Given the description of an element on the screen output the (x, y) to click on. 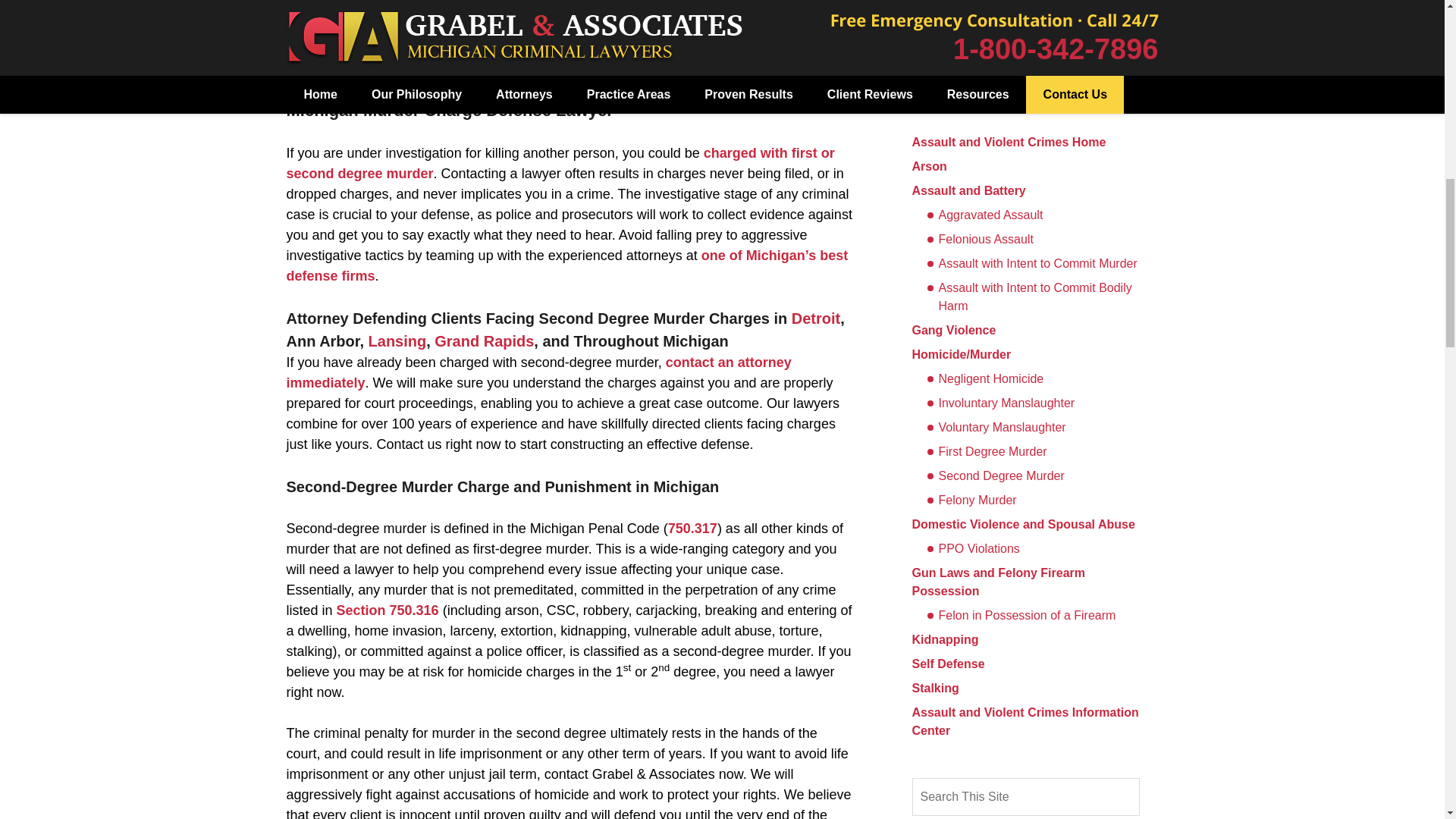
Search (1024, 796)
